Given the description of an element on the screen output the (x, y) to click on. 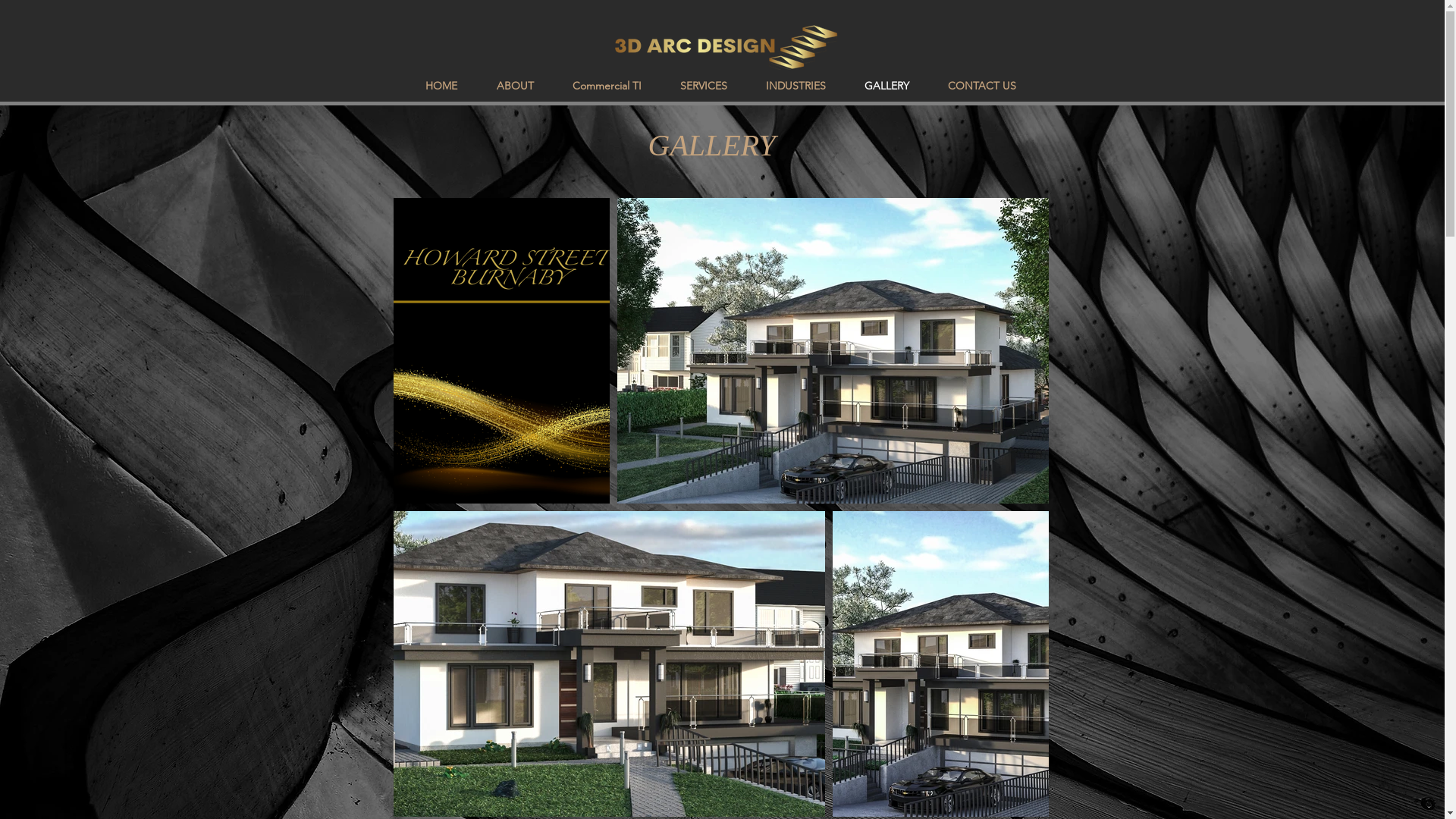
INDUSTRIES Element type: text (795, 85)
GALLERY Element type: text (886, 85)
Commercial TI Element type: text (607, 85)
HOME Element type: text (440, 85)
SERVICES Element type: text (703, 85)
CONTACT US Element type: text (981, 85)
ABOUT Element type: text (514, 85)
